Given the description of an element on the screen output the (x, y) to click on. 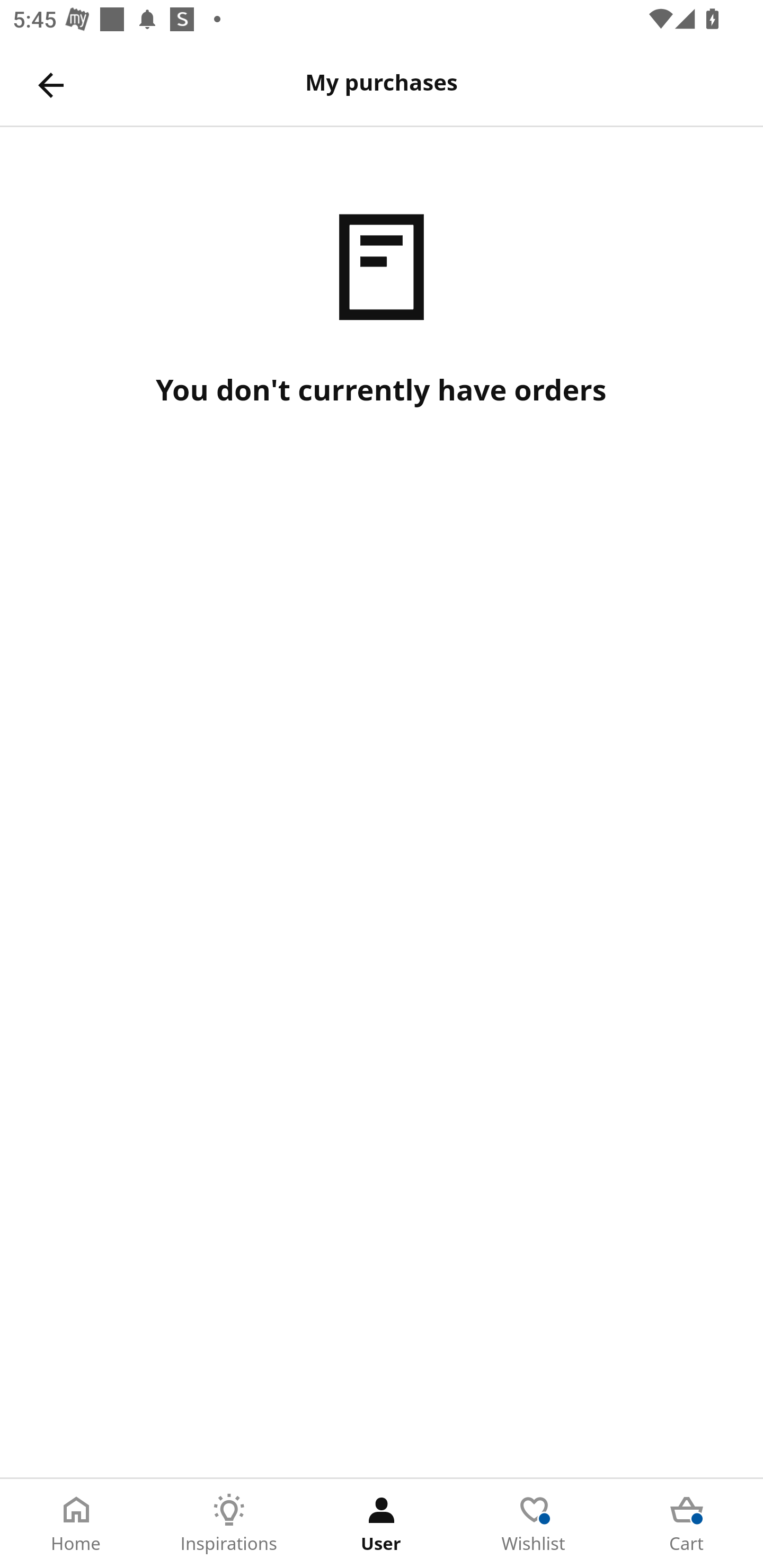
Home
Tab 1 of 5 (76, 1522)
Inspirations
Tab 2 of 5 (228, 1522)
User
Tab 3 of 5 (381, 1522)
Wishlist
Tab 4 of 5 (533, 1522)
Cart
Tab 5 of 5 (686, 1522)
